Given the description of an element on the screen output the (x, y) to click on. 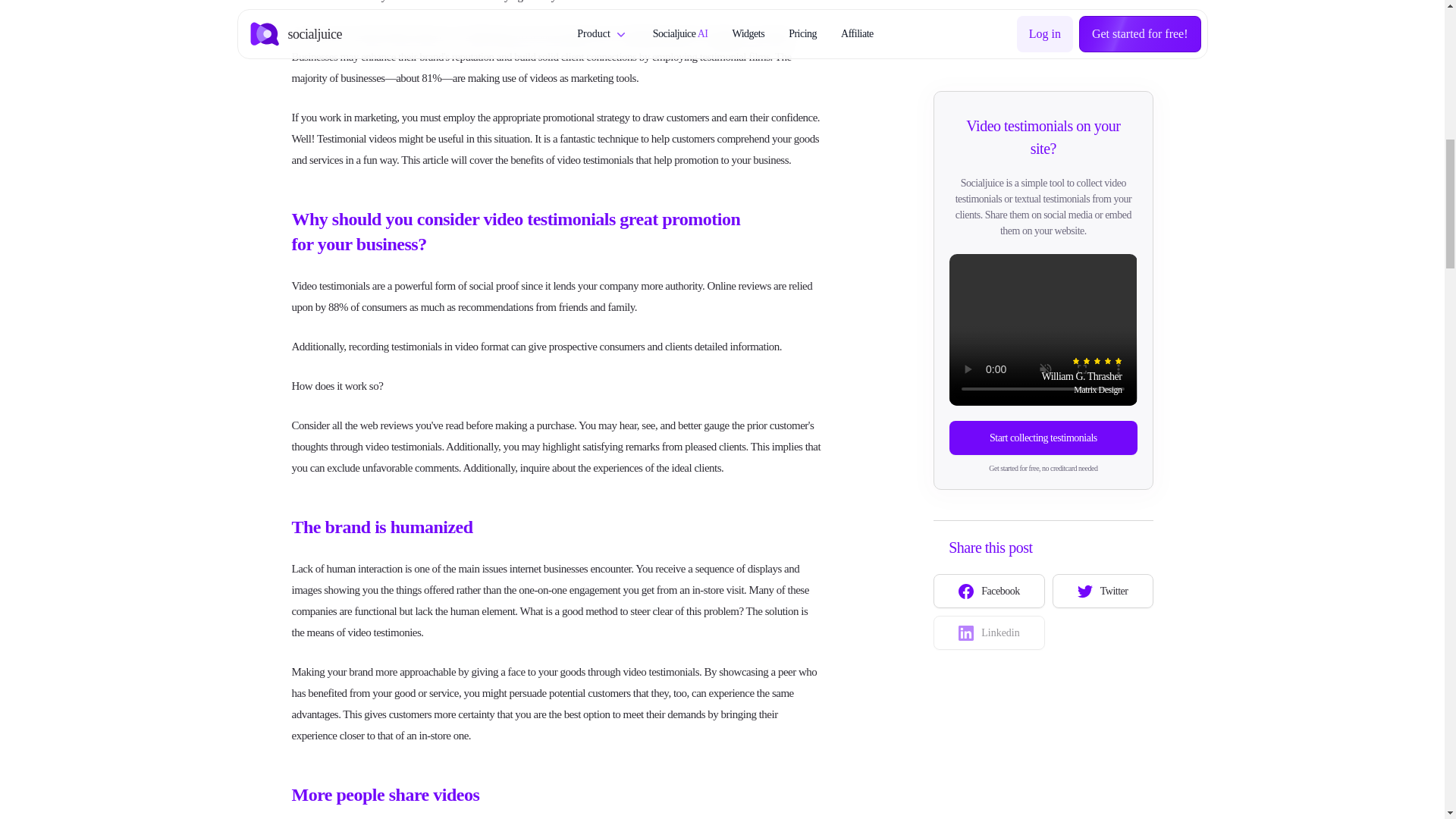
Linkedin (989, 466)
Facebook (989, 424)
Start collecting testimonials (1043, 271)
Twitter (1102, 424)
